Given the description of an element on the screen output the (x, y) to click on. 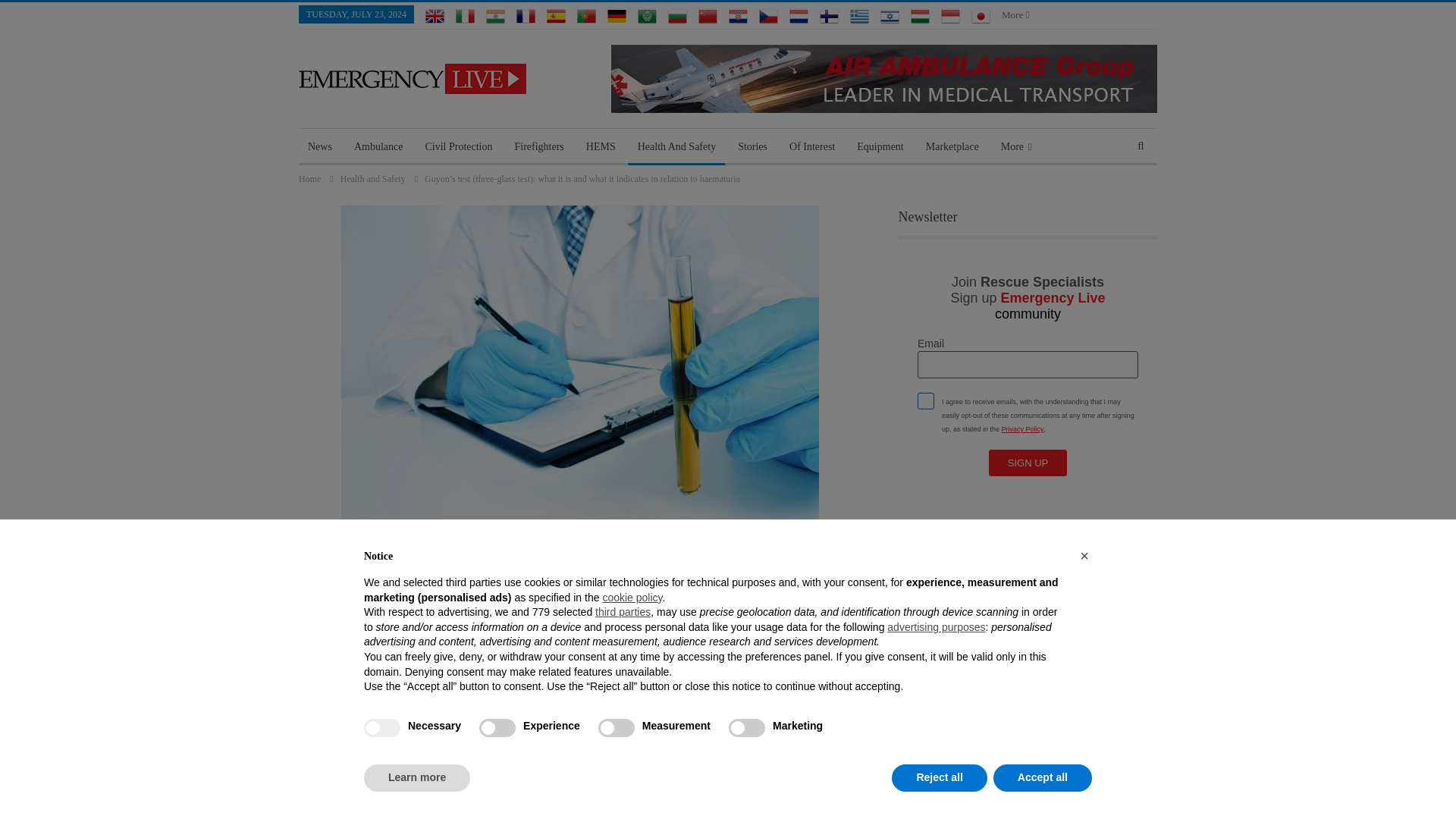
false (747, 728)
Italiano (464, 15)
false (616, 728)
Browse Author Articles (342, 629)
Ambulance (378, 146)
true (382, 728)
false (497, 728)
Hindi (495, 15)
Deutsch (616, 15)
News (319, 146)
More (1015, 14)
English (434, 15)
Civil Protection (457, 146)
